Given the description of an element on the screen output the (x, y) to click on. 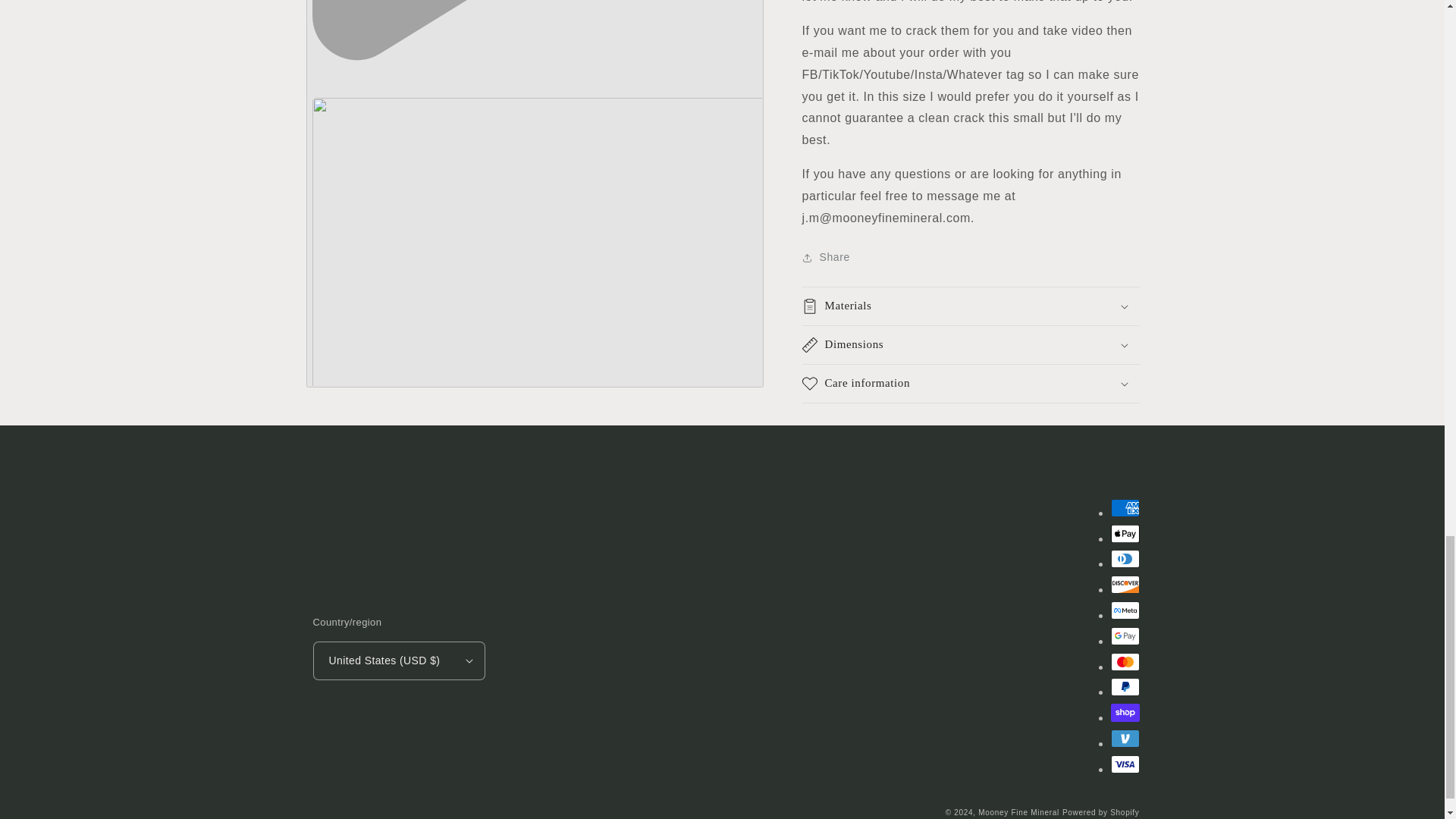
Meta Pay (1123, 610)
American Express (1123, 507)
Diners Club (1123, 558)
Discover (1123, 584)
Apple Pay (1123, 533)
